Given the description of an element on the screen output the (x, y) to click on. 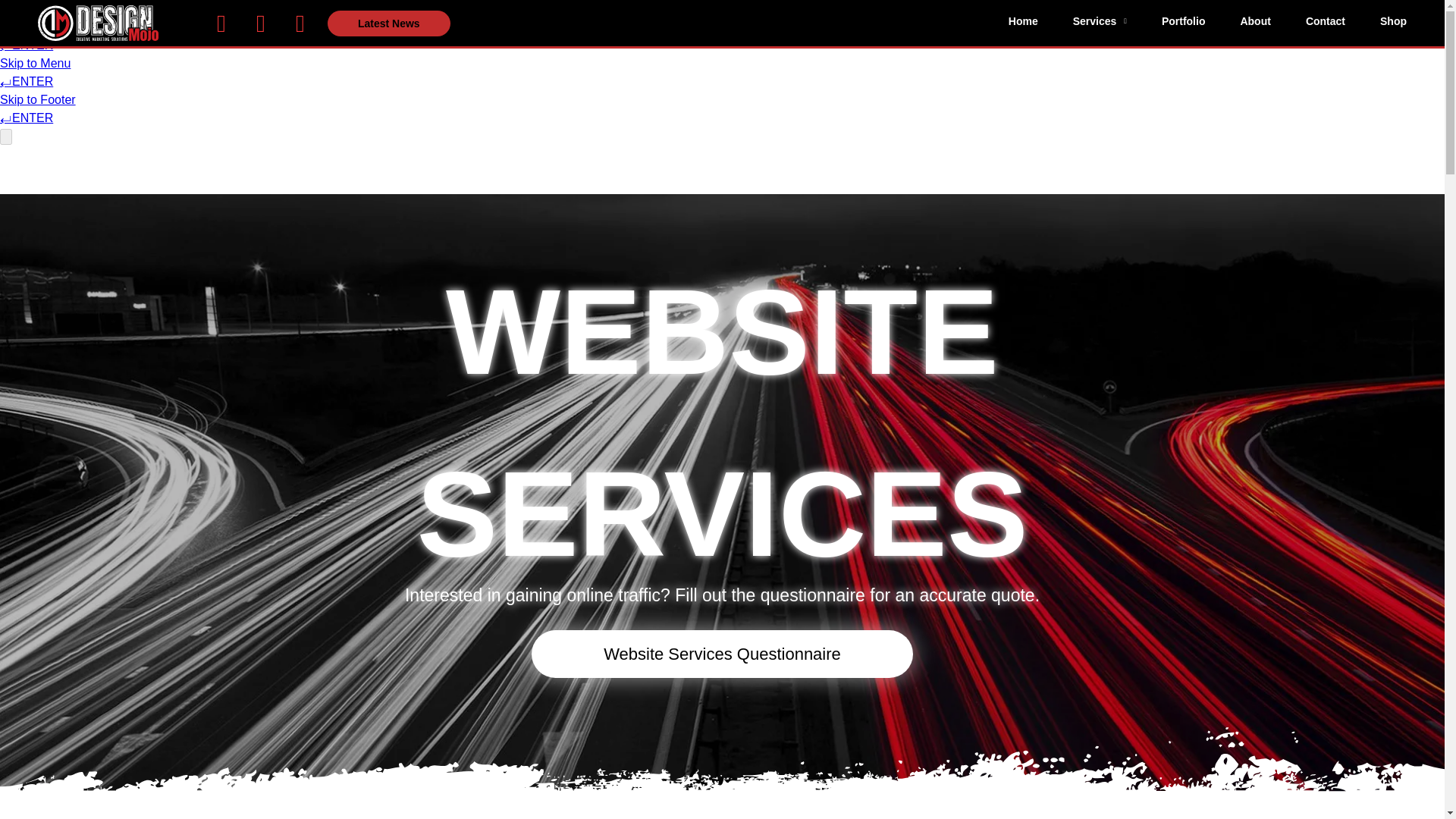
About (1254, 20)
Home (1023, 20)
Services (1099, 20)
Portfolio (1183, 20)
Contact (1325, 20)
Latest News (388, 23)
